Given the description of an element on the screen output the (x, y) to click on. 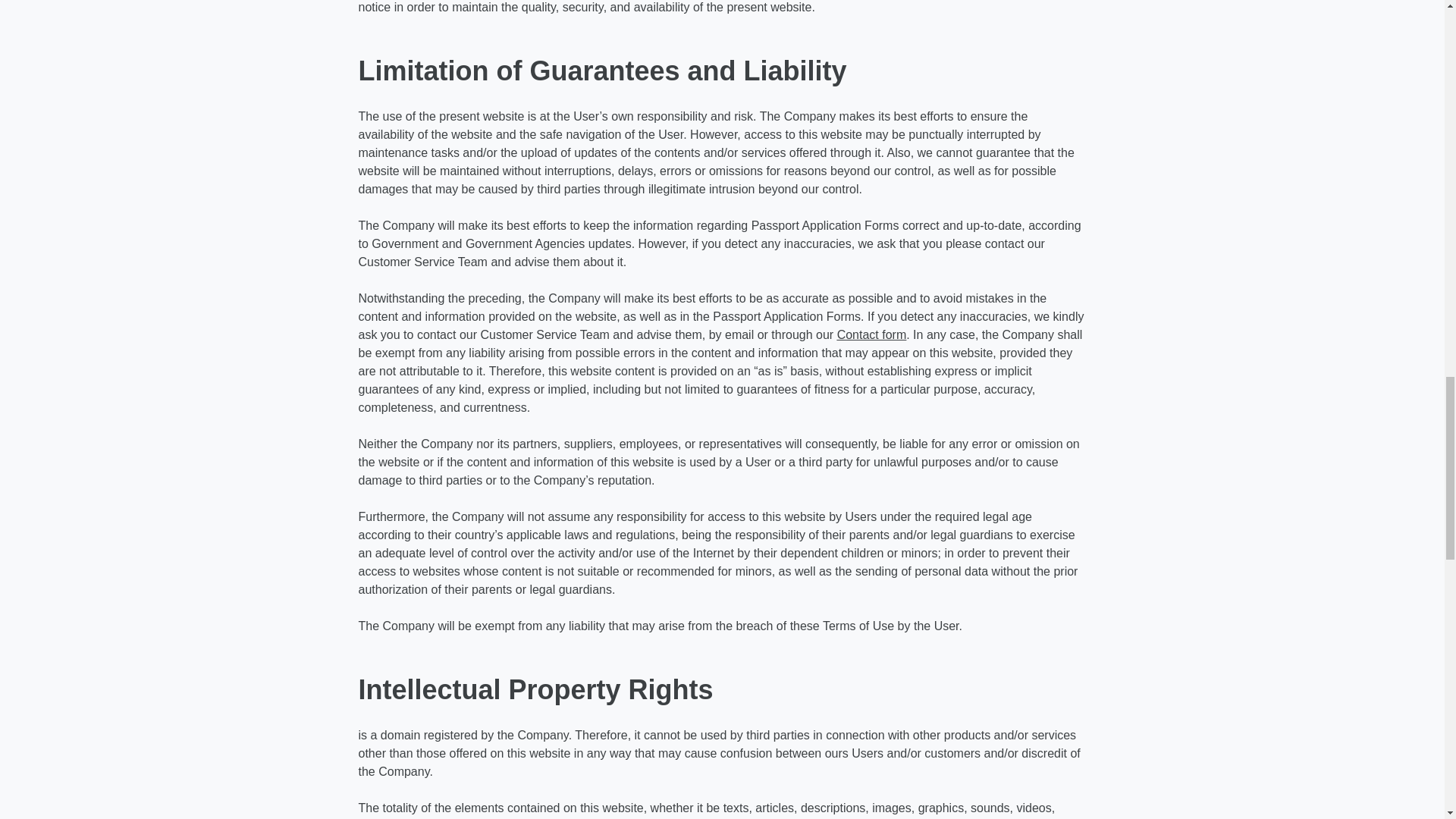
Contact form (872, 334)
